Given the description of an element on the screen output the (x, y) to click on. 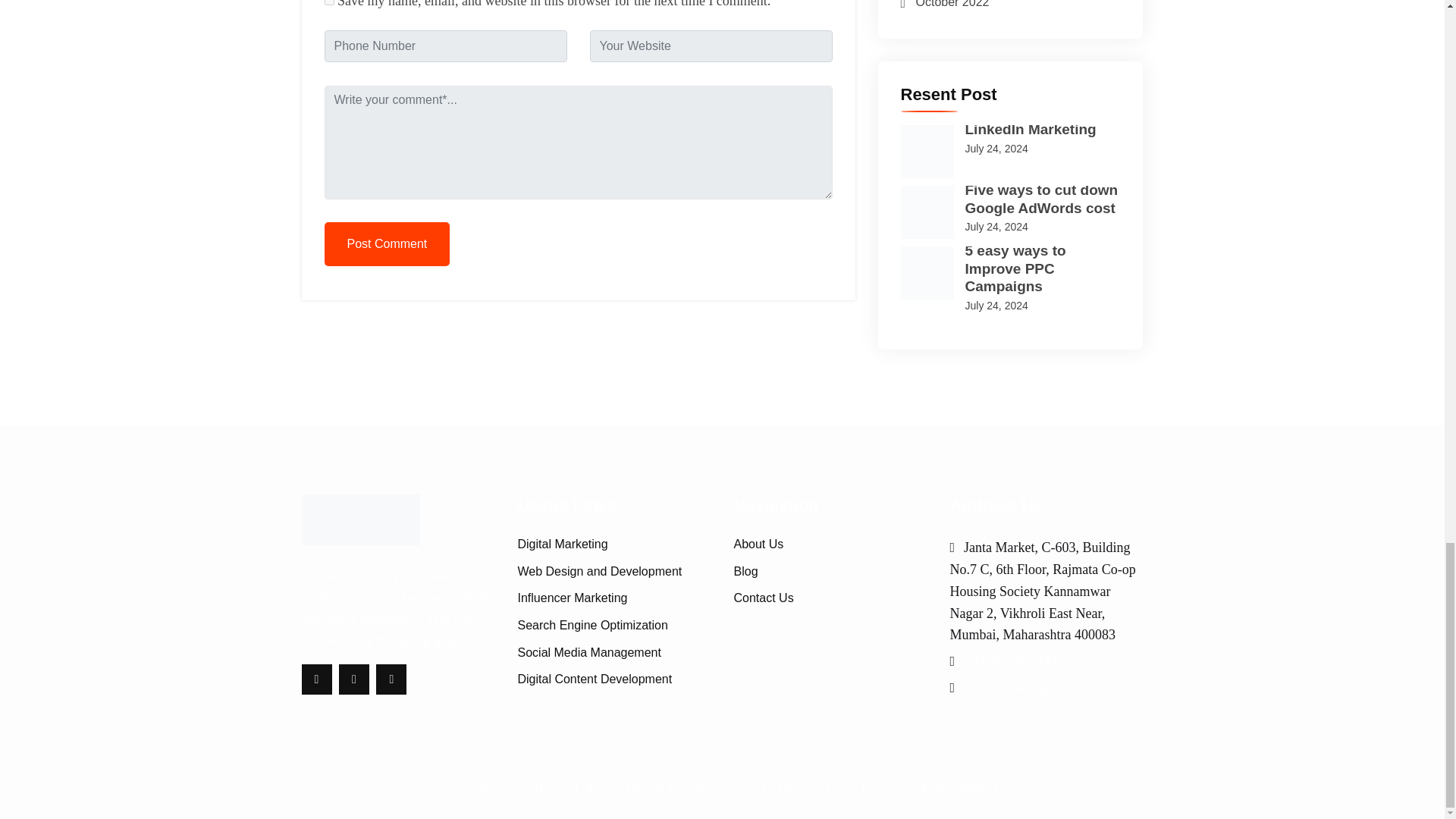
yes (329, 2)
LinkedIn Marketing 2 (927, 151)
